Given the description of an element on the screen output the (x, y) to click on. 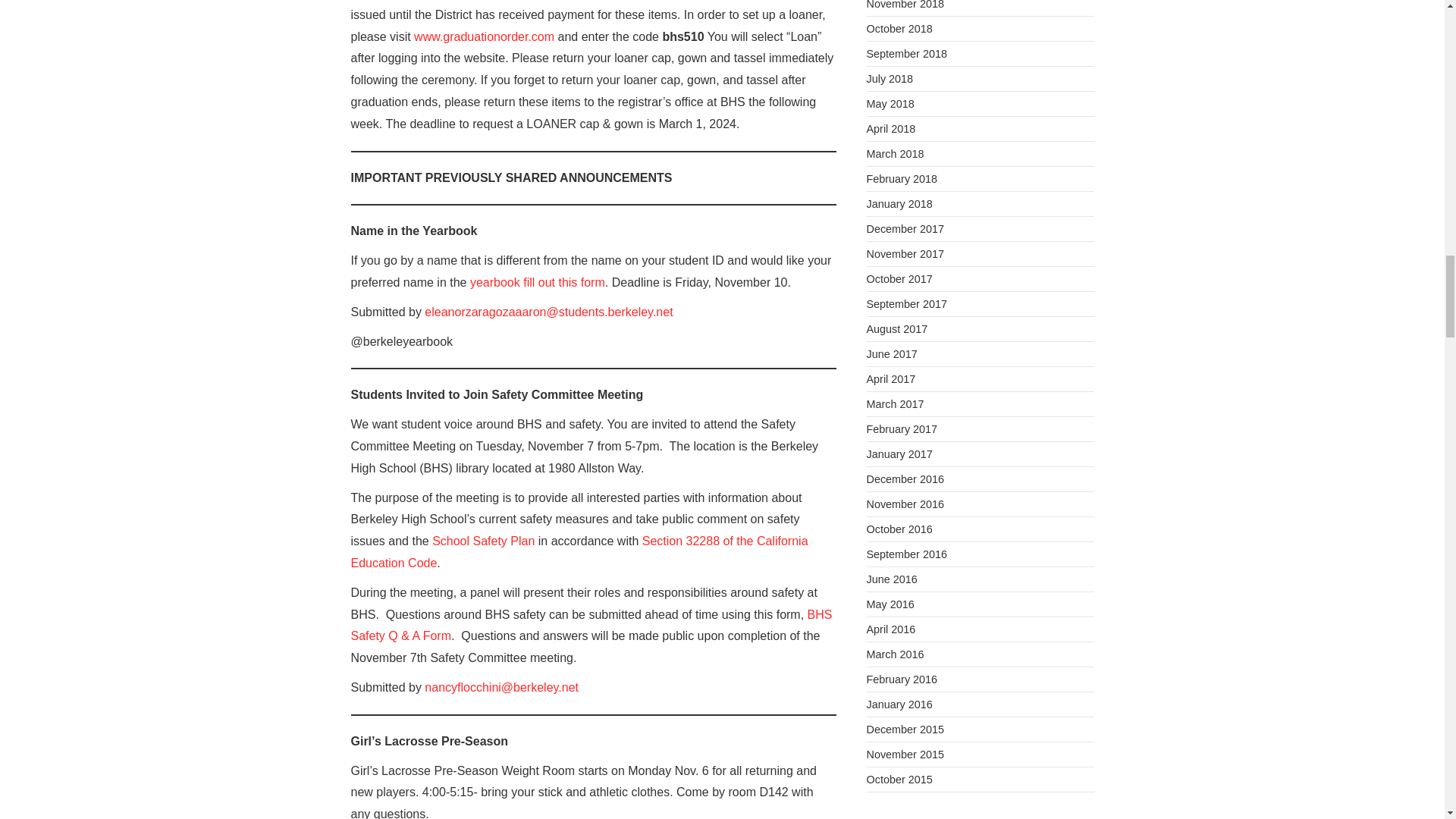
School Safety Plan (483, 540)
www.graduationorder.com (482, 36)
Section 32288 of the California Education Code (579, 551)
yearbook fill out this form (537, 282)
